Given the description of an element on the screen output the (x, y) to click on. 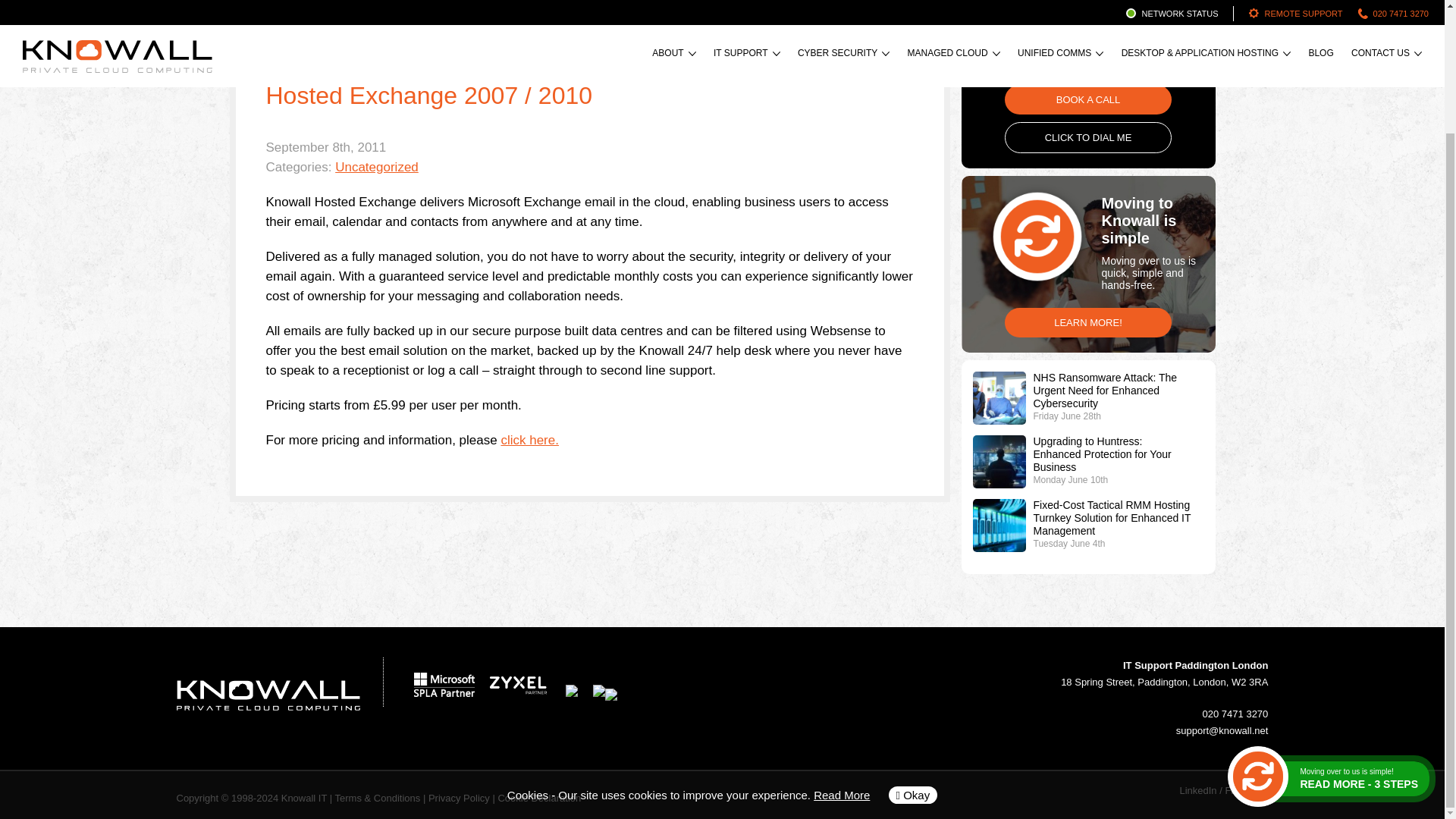
Read More (841, 645)
click here. (529, 440)
